Given the description of an element on the screen output the (x, y) to click on. 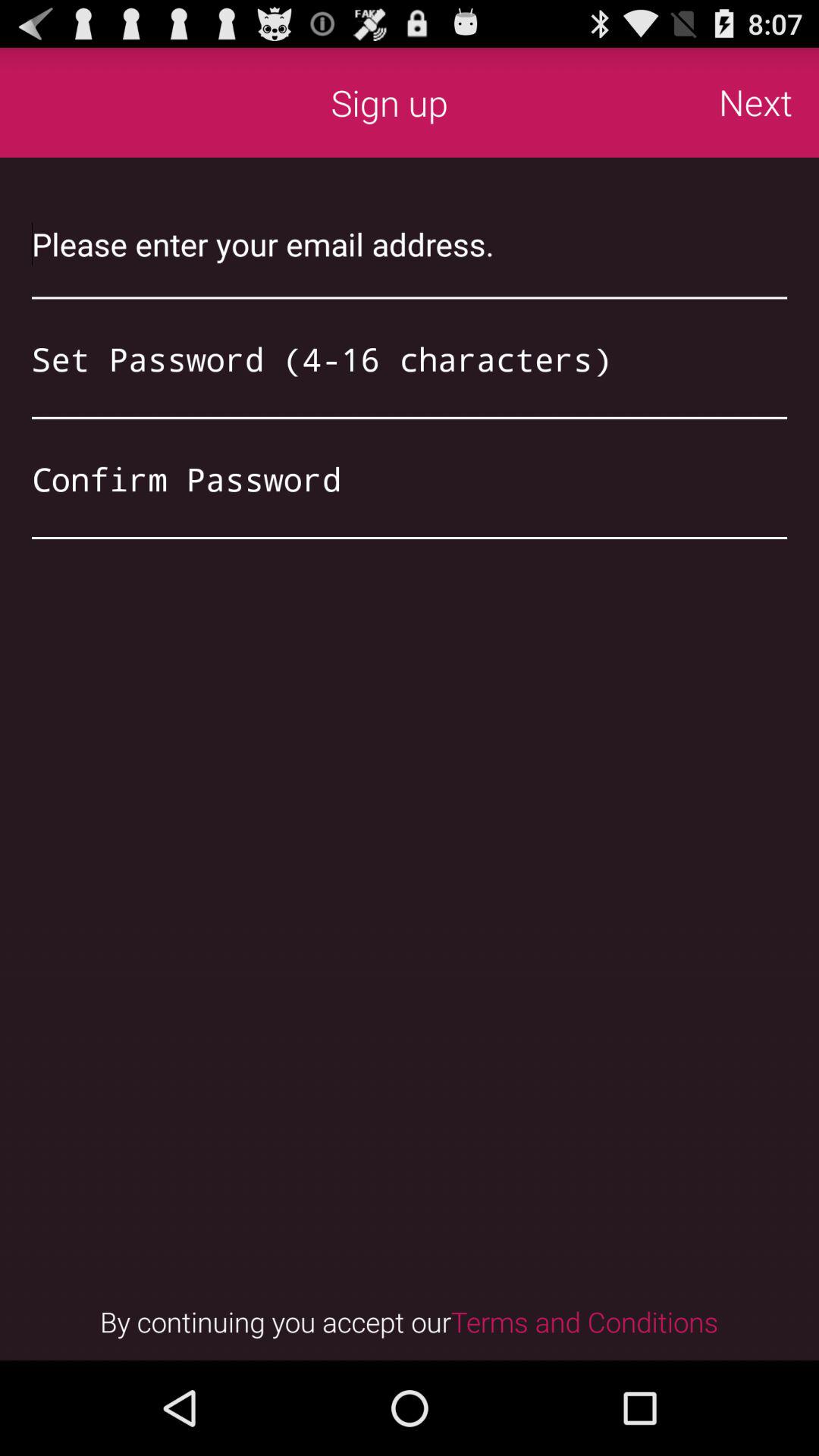
enter email (409, 243)
